Given the description of an element on the screen output the (x, y) to click on. 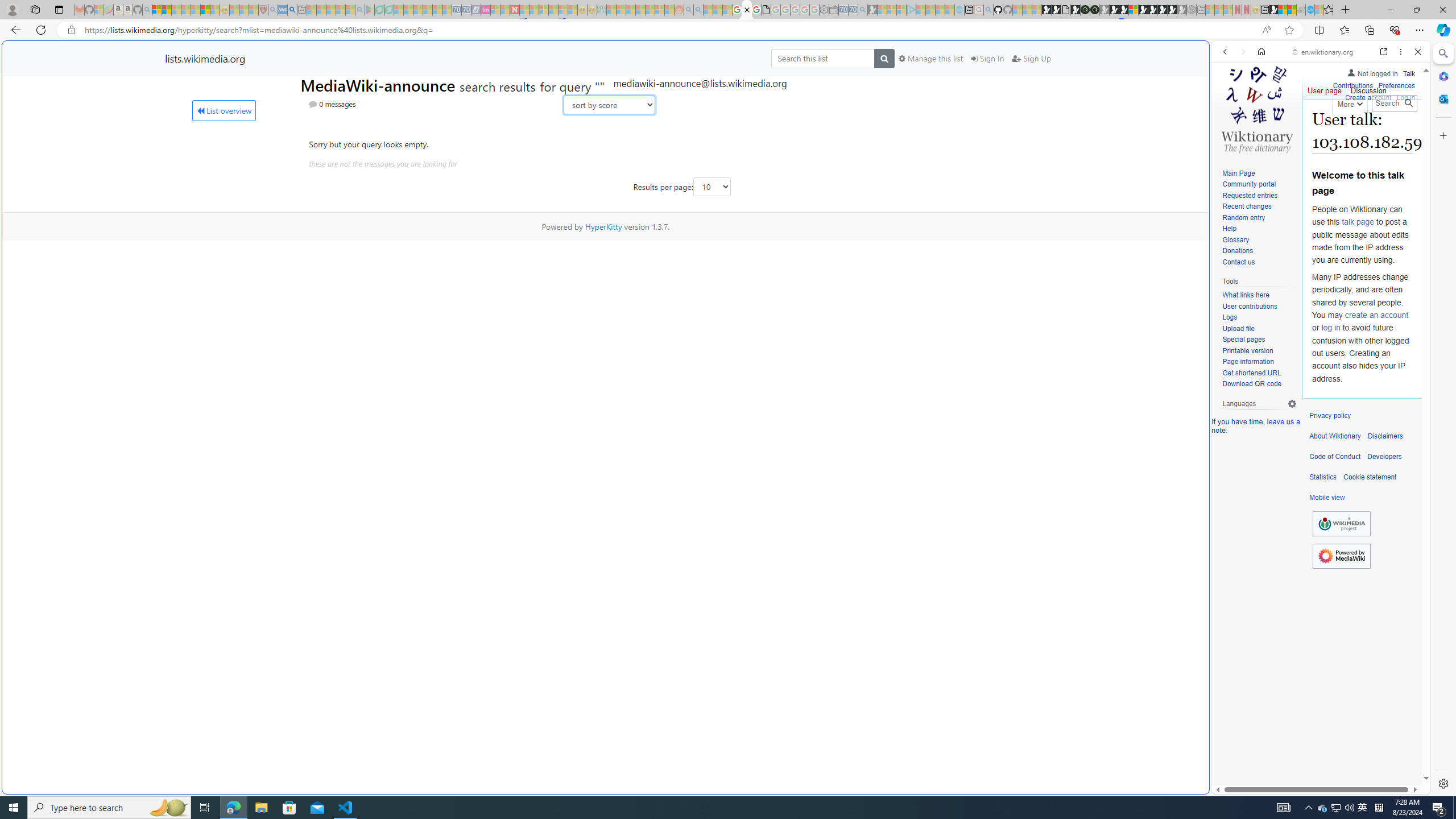
Wikimedia Foundation (1341, 523)
Contributions (1352, 85)
